Given the description of an element on the screen output the (x, y) to click on. 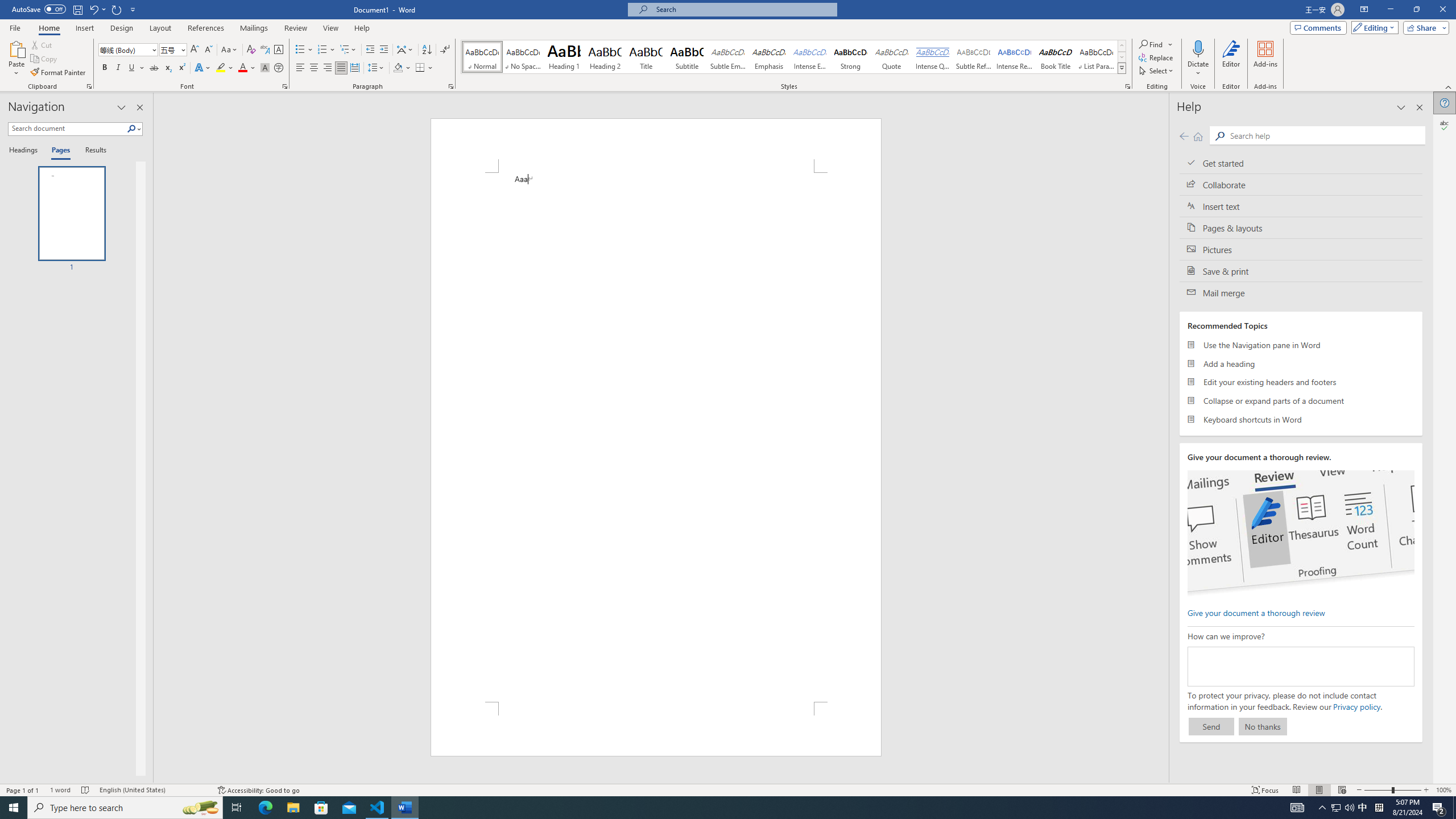
Heading 1 (564, 56)
Class: NetUIScrollBar (1163, 437)
Class: NetUIImage (1121, 68)
Cut (42, 44)
Asian Layout (405, 49)
Align Left (300, 67)
Font... (285, 85)
Class: MsoCommandBar (728, 789)
Headings (25, 150)
